Given the description of an element on the screen output the (x, y) to click on. 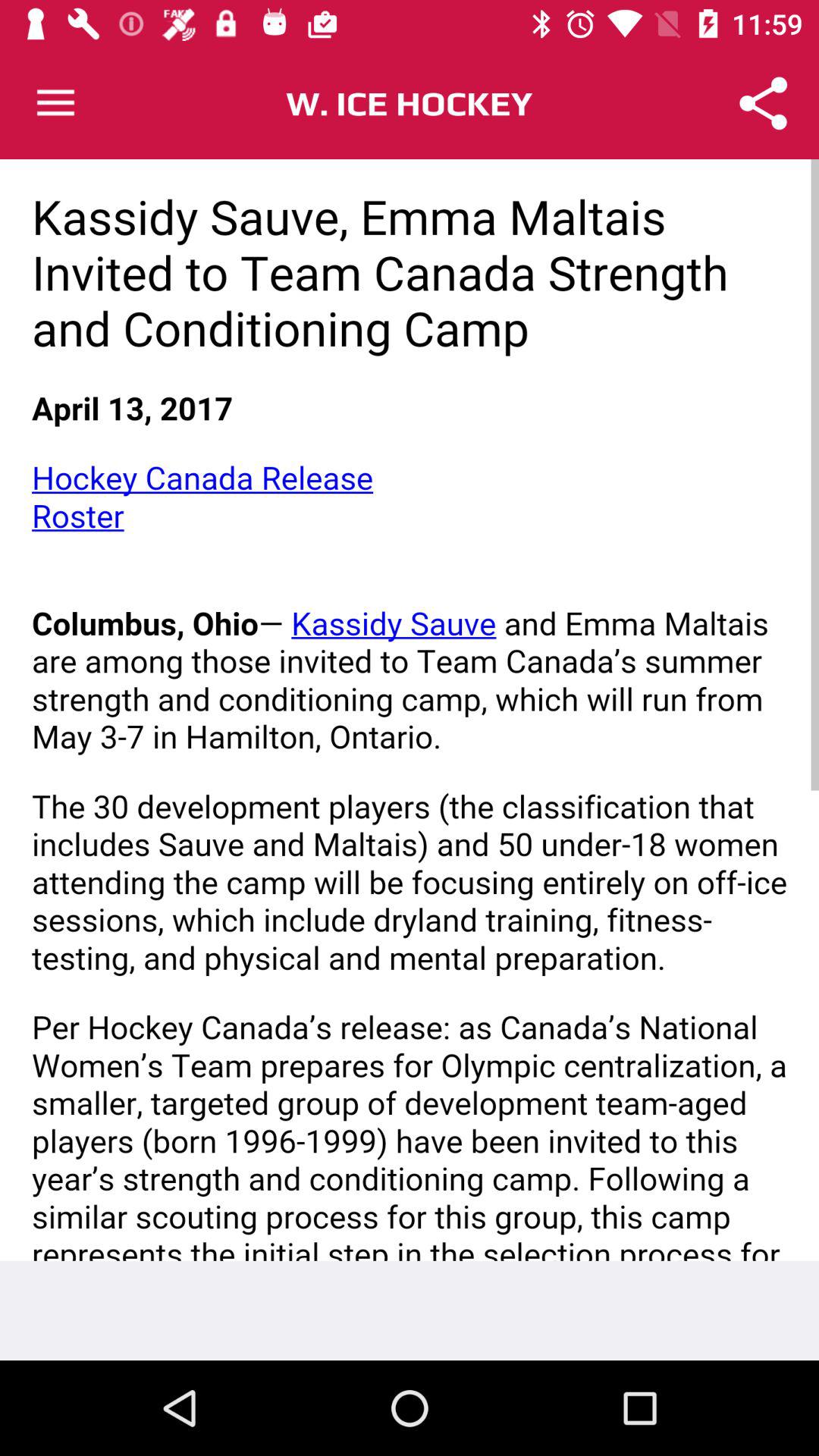
show more options (55, 103)
